Given the description of an element on the screen output the (x, y) to click on. 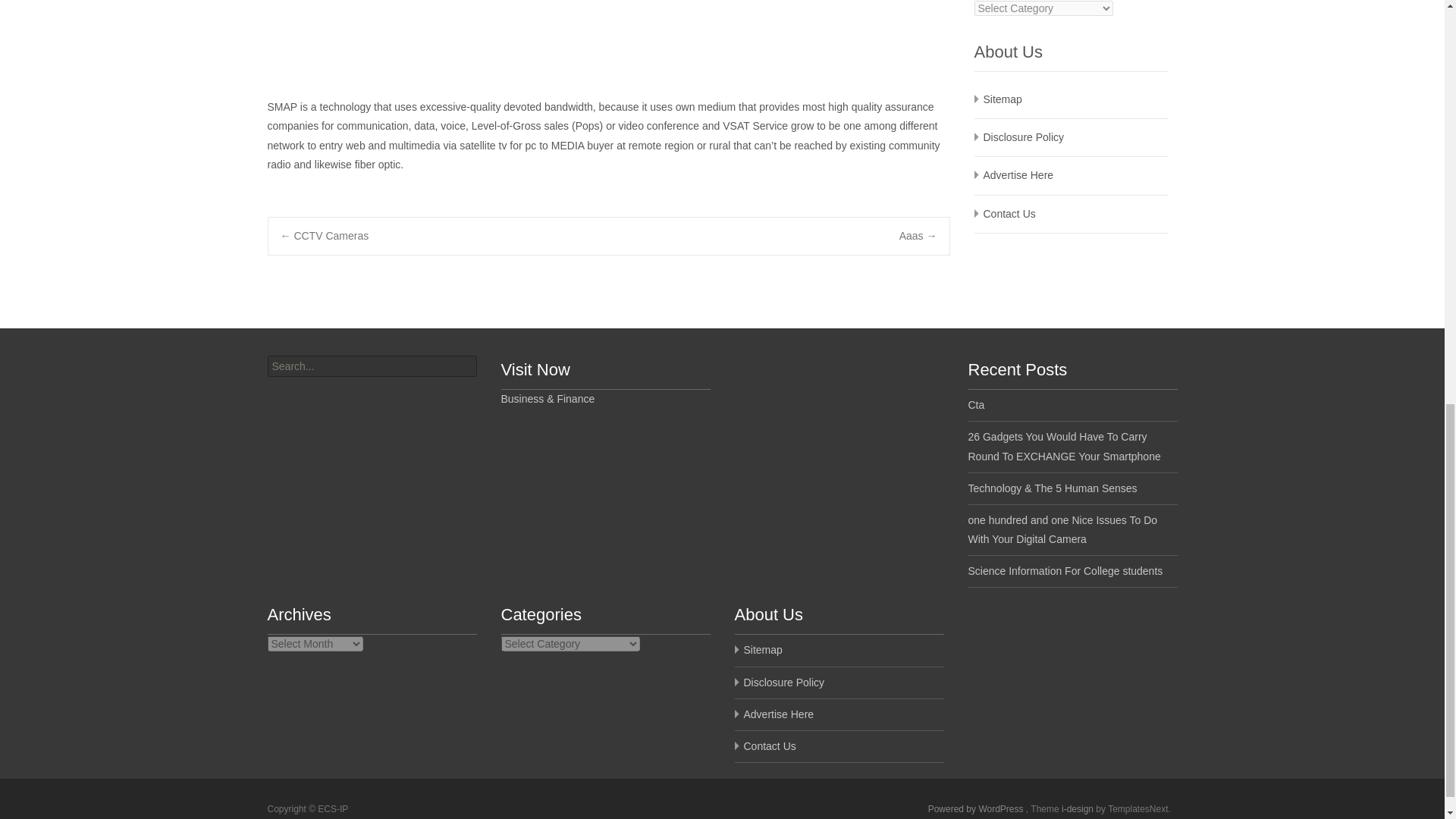
Multipurpose WordPress Theme (1078, 808)
Semantic Personal Publishing Platform (977, 808)
Search for: (371, 365)
